Given the description of an element on the screen output the (x, y) to click on. 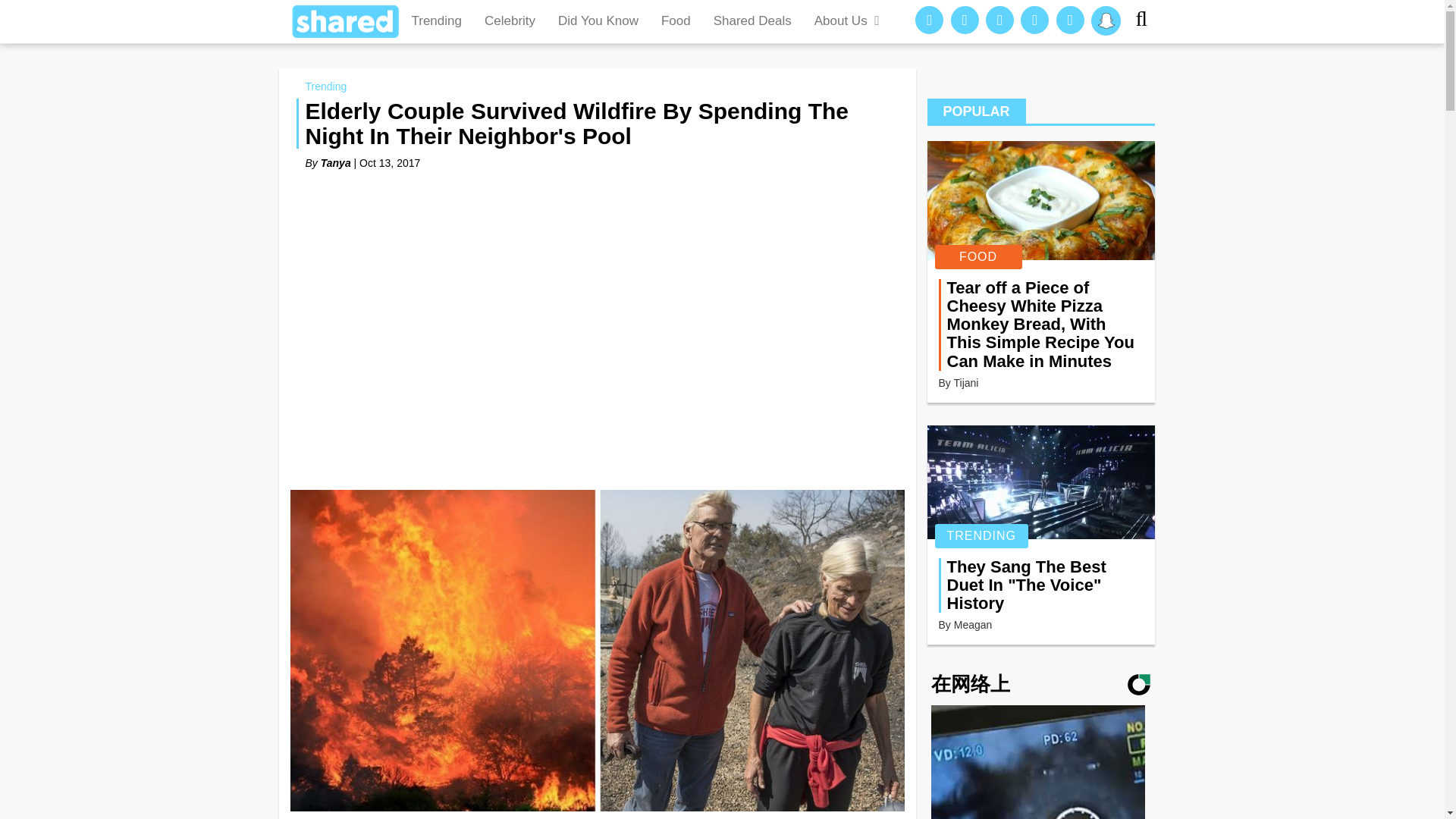
Food (675, 21)
Search (1147, 21)
Shared Deals (752, 21)
Tanya's Profile (335, 162)
Tanya (335, 162)
Meagan's Profile (972, 624)
pinterest (964, 19)
snapchat (1105, 20)
Did You Know (598, 21)
Tijani's Profile (965, 382)
